Given the description of an element on the screen output the (x, y) to click on. 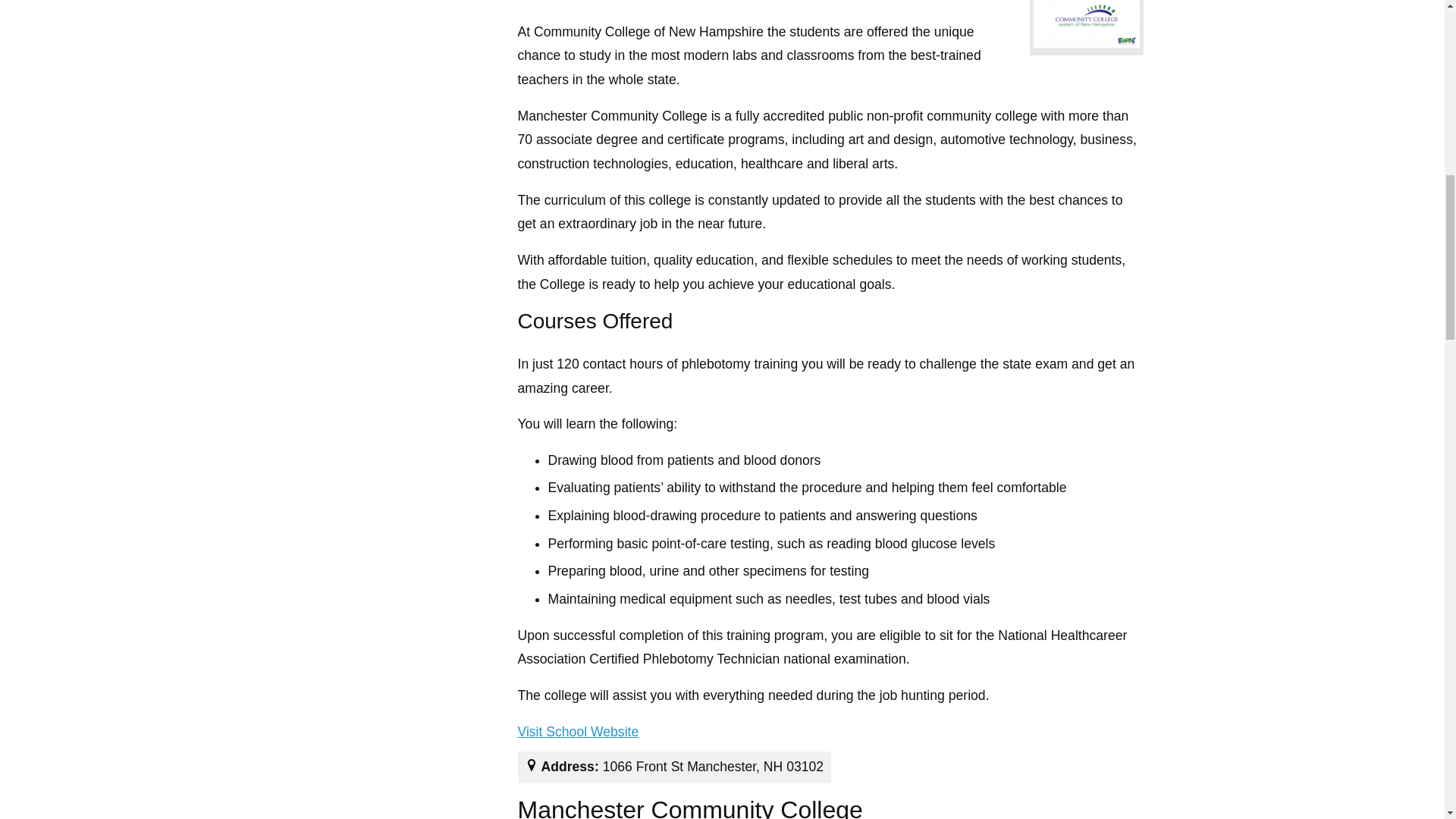
Visit School Website (577, 732)
